Given the description of an element on the screen output the (x, y) to click on. 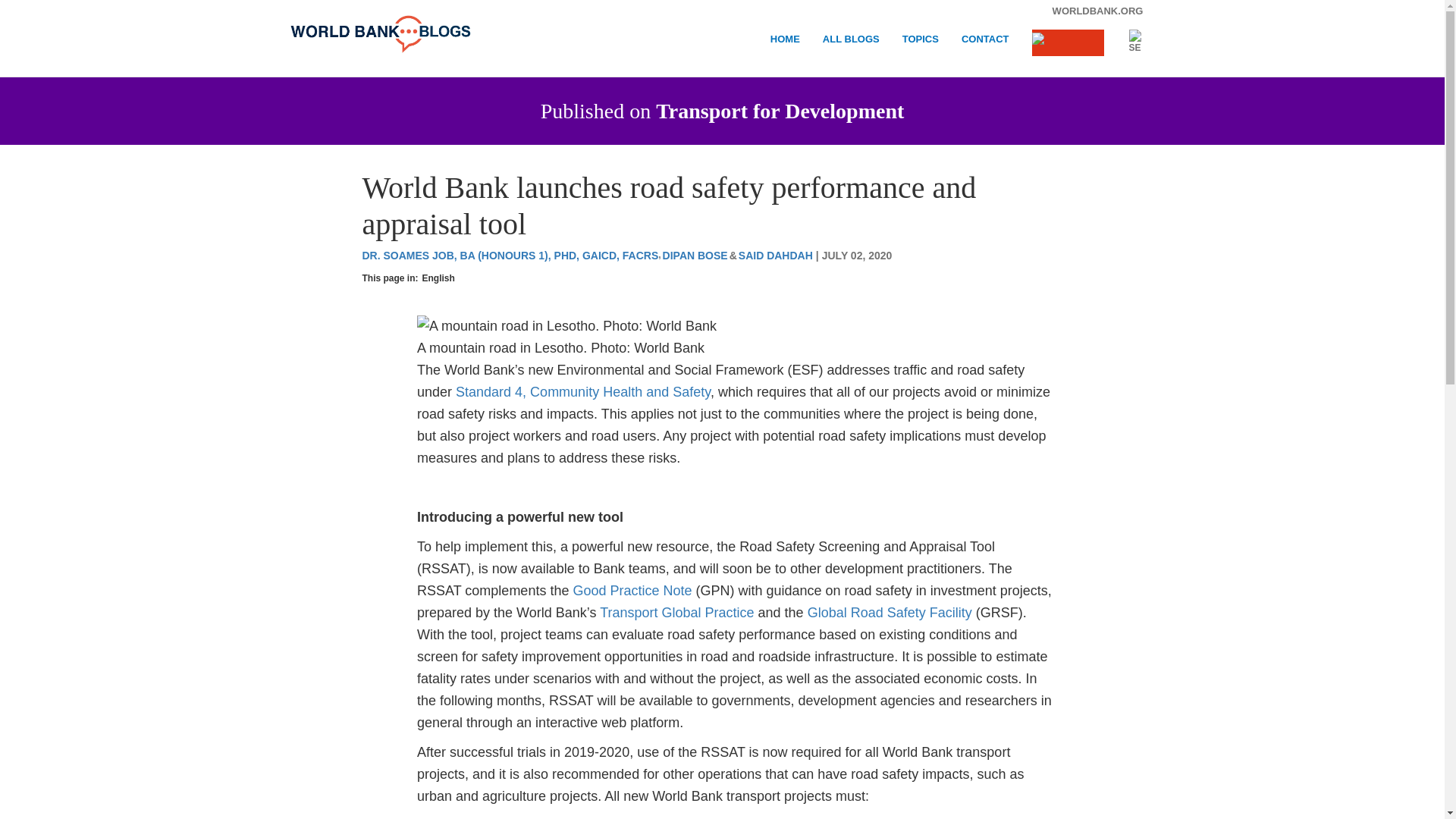
Global Road Safety Facility (890, 612)
TOPICS (920, 43)
WORLDBANK.ORG (1097, 10)
WB Live Logo (1066, 41)
ALL BLOGS (850, 43)
Transport for Development (780, 110)
Transport Global Practice (676, 612)
HOME (784, 43)
Good Practice Note (631, 590)
CONTACT (984, 43)
